Given the description of an element on the screen output the (x, y) to click on. 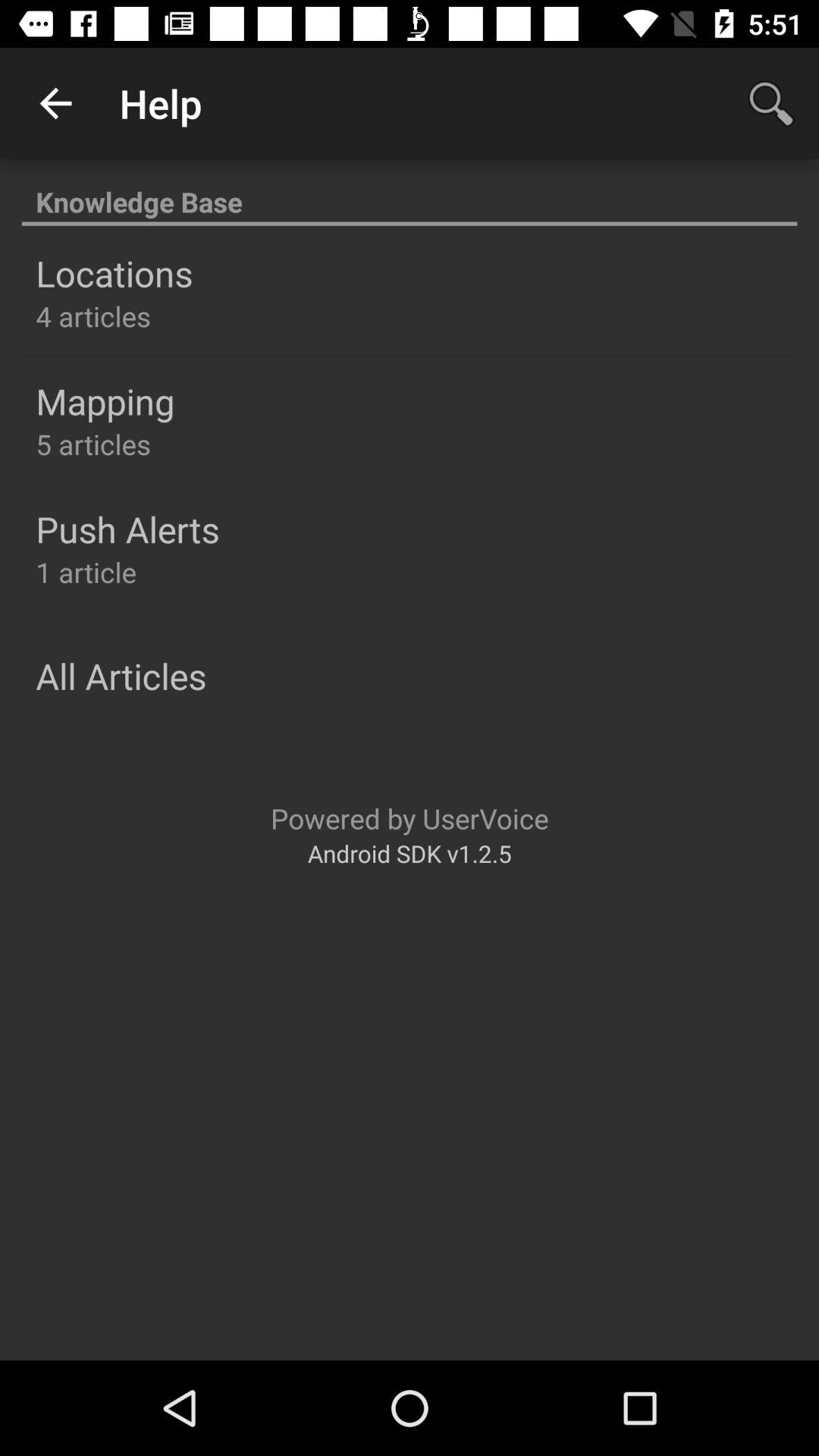
click the item above 1 article item (127, 529)
